Given the description of an element on the screen output the (x, y) to click on. 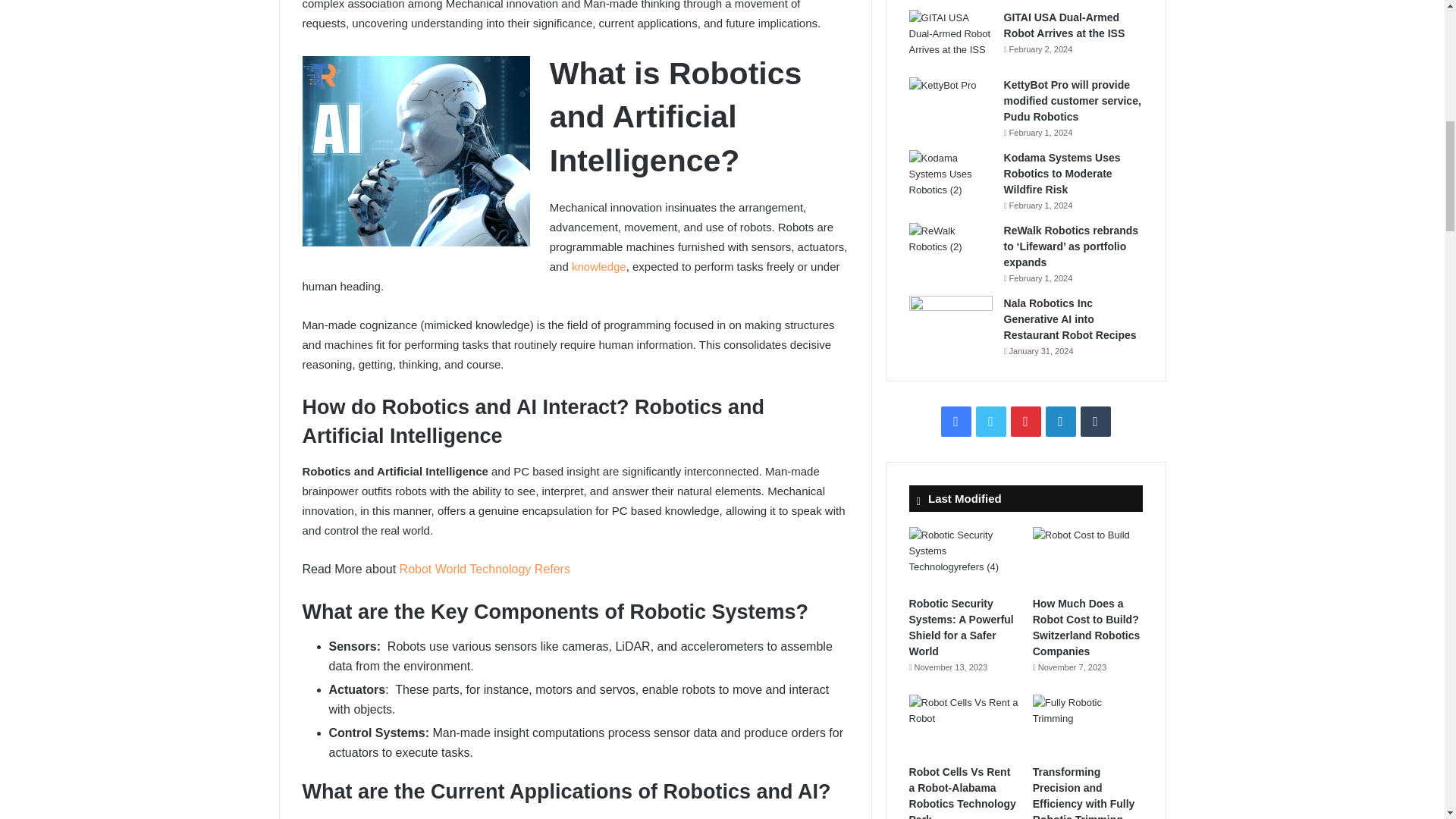
knowledge (599, 266)
Robot World Technology Refers (484, 568)
